Given the description of an element on the screen output the (x, y) to click on. 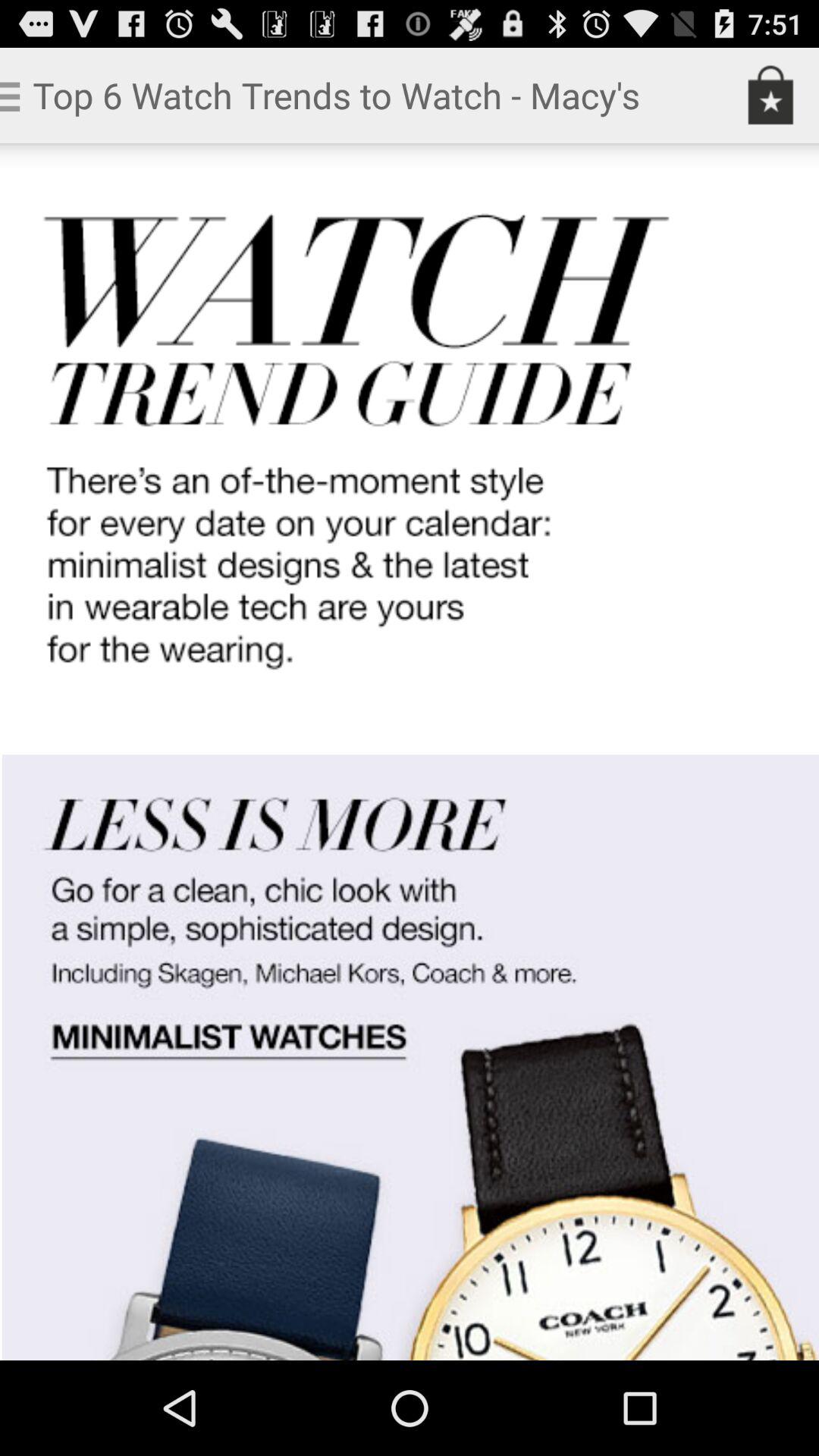
click discriiption (409, 751)
